Given the description of an element on the screen output the (x, y) to click on. 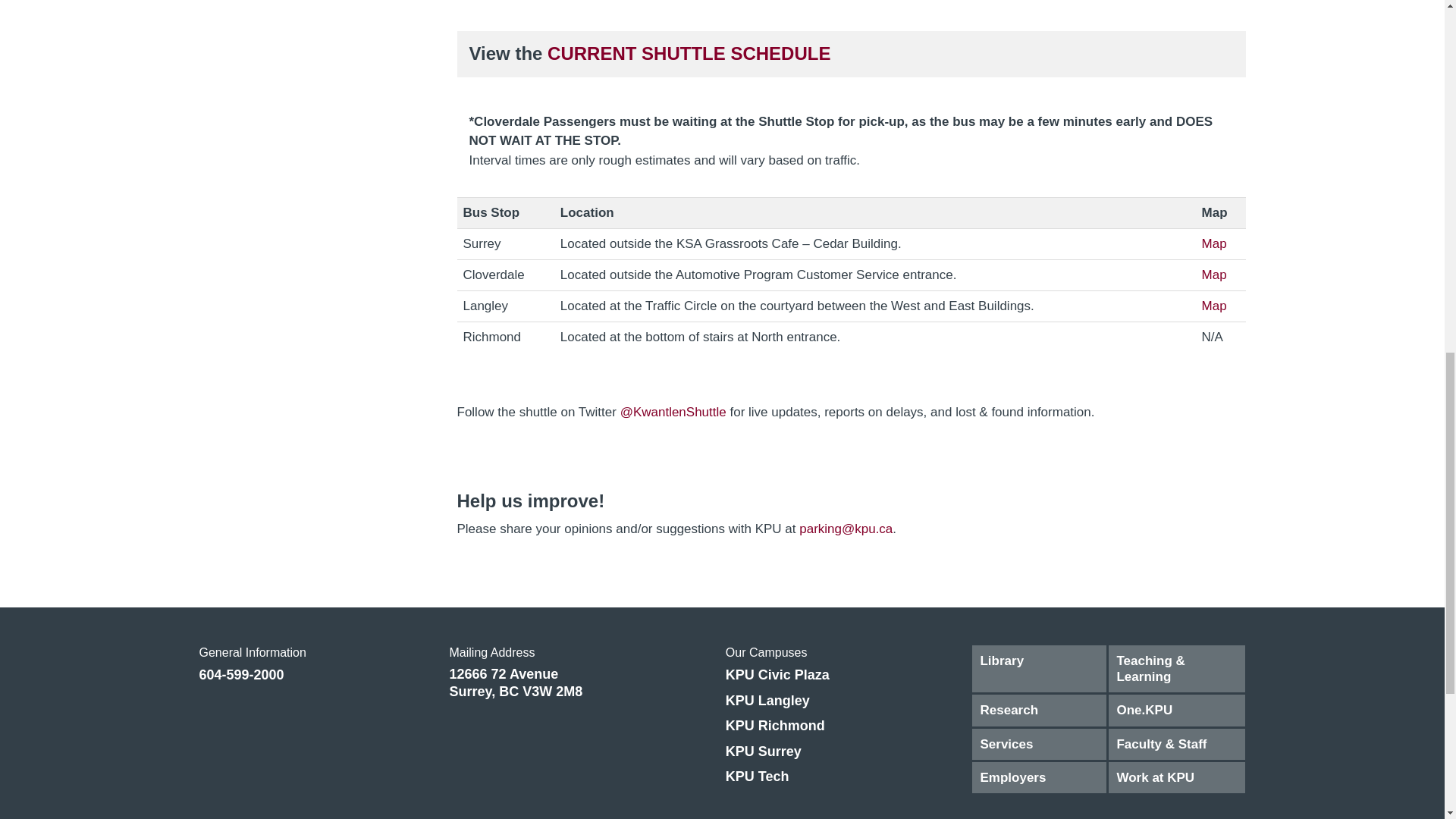
Cloverdale Shuttle Location (1214, 274)
CURRENT SHUTTLE SCHEDULE (688, 53)
Langley Shuttle Location (1214, 305)
Surrey Shuttle Location (1214, 243)
Map (1214, 274)
Map (1214, 243)
Map (1214, 305)
